Given the description of an element on the screen output the (x, y) to click on. 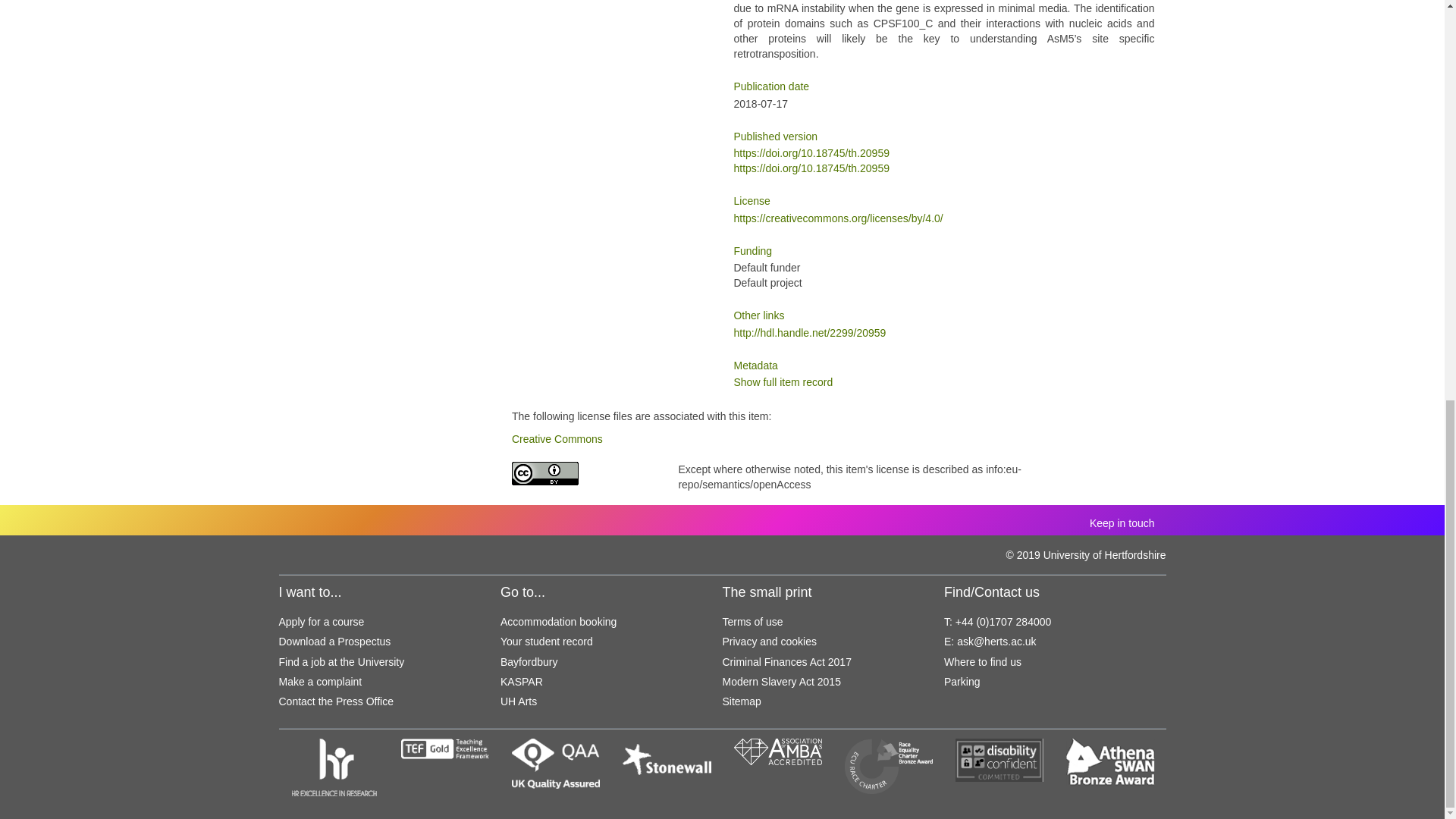
Bayfordbury (528, 662)
Show full item record (782, 381)
Creative Commons (557, 439)
Download a Prospectus (335, 641)
UH Arts (518, 701)
Contact the Press Office (336, 701)
Accommodation booking (557, 621)
Apply for a course (322, 621)
Find a job at the University (341, 662)
Make a complaint (320, 681)
Your student record (546, 641)
KASPAR (521, 681)
Terms of use (752, 621)
